Given the description of an element on the screen output the (x, y) to click on. 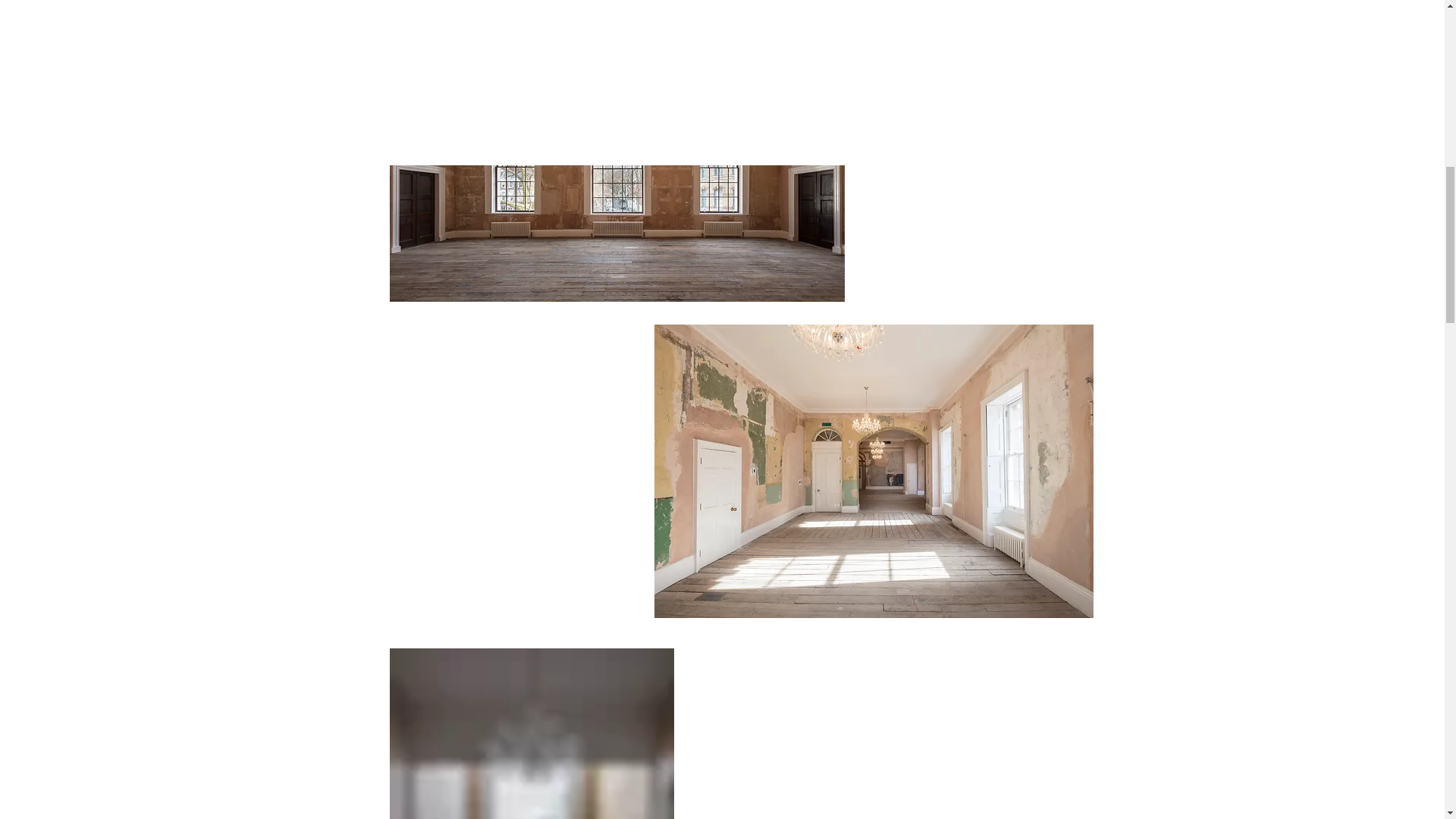
osh MC1900-8061-HR.jpg (873, 471)
osh MC1900-8103-HR.jpg (532, 733)
